Given the description of an element on the screen output the (x, y) to click on. 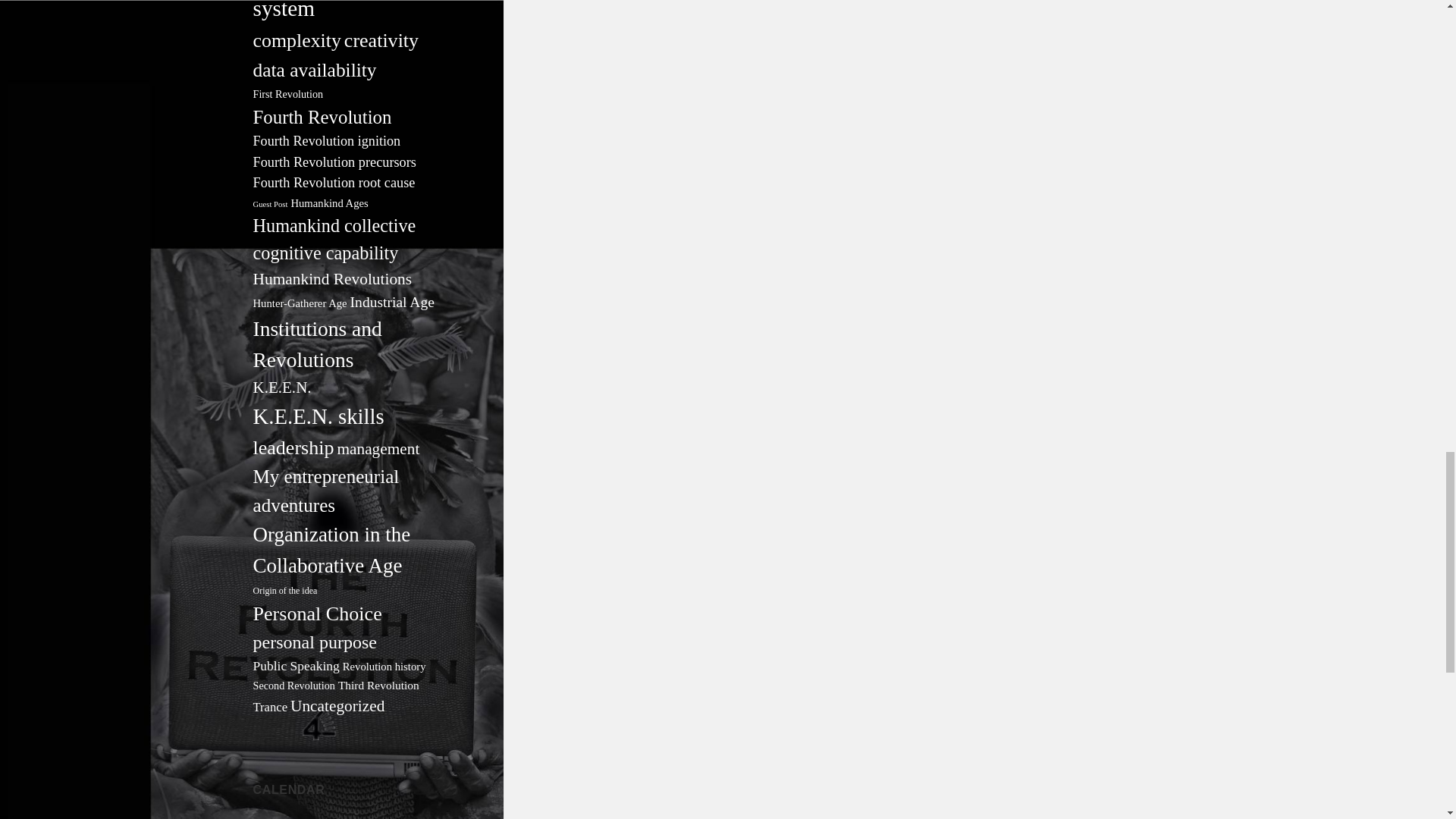
Fourth Revolution precursors (334, 161)
Hunter-Gatherer Age (300, 303)
data availability (315, 69)
K.E.E.N. skills (318, 416)
Institutions and Revolutions (317, 344)
Humankind collective cognitive capability (334, 238)
complexity (296, 40)
leadership (293, 447)
Guest Post (270, 203)
Fourth Revolution ignition (327, 140)
